Given the description of an element on the screen output the (x, y) to click on. 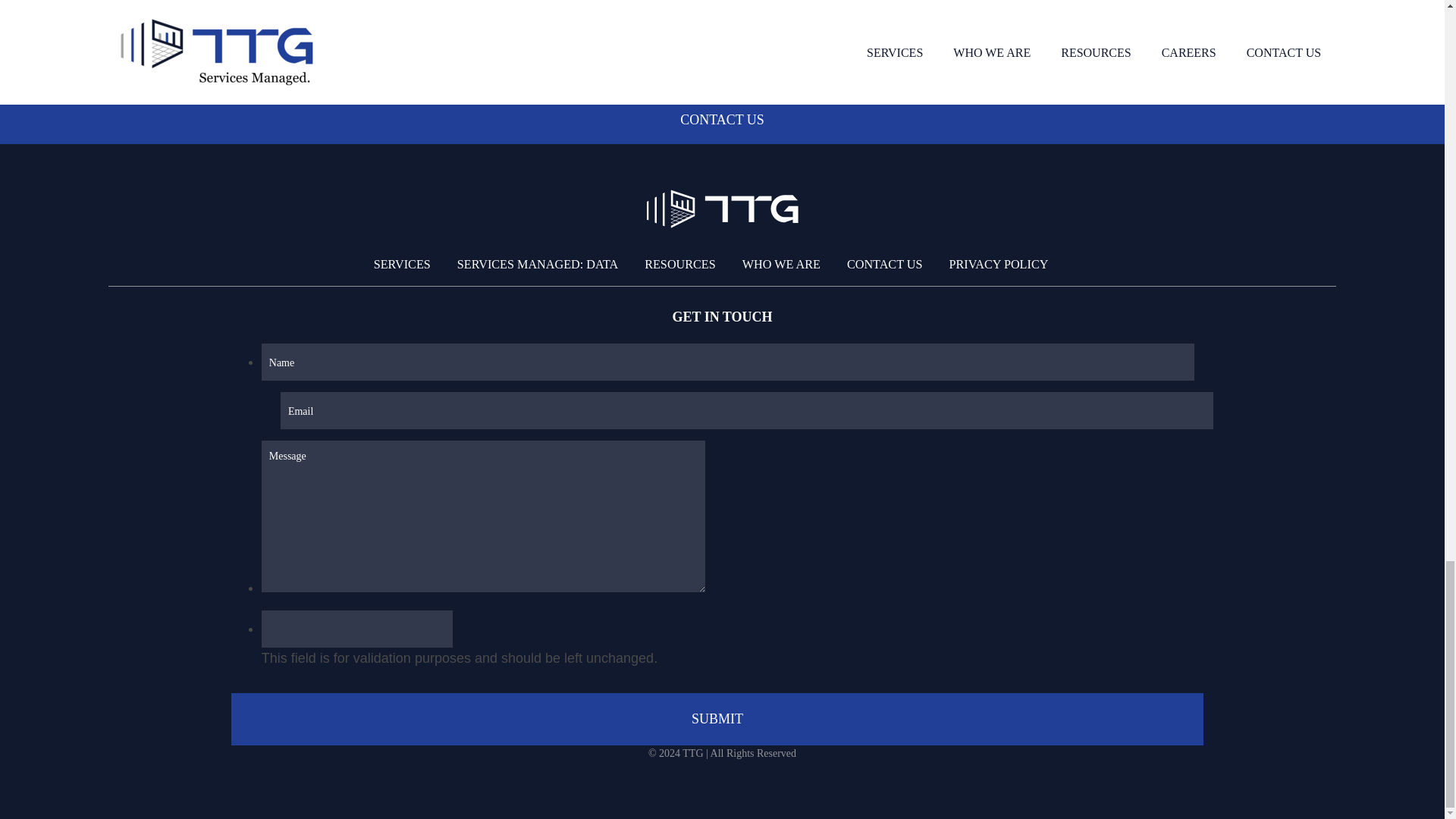
Submit (717, 718)
SERVICES MANAGED: DATA (536, 264)
CONTACT US (884, 264)
SERVICES (402, 264)
PRIVACY POLICY (998, 264)
RESOURCES (679, 264)
WHO WE ARE (780, 264)
Submit (717, 718)
